Given the description of an element on the screen output the (x, y) to click on. 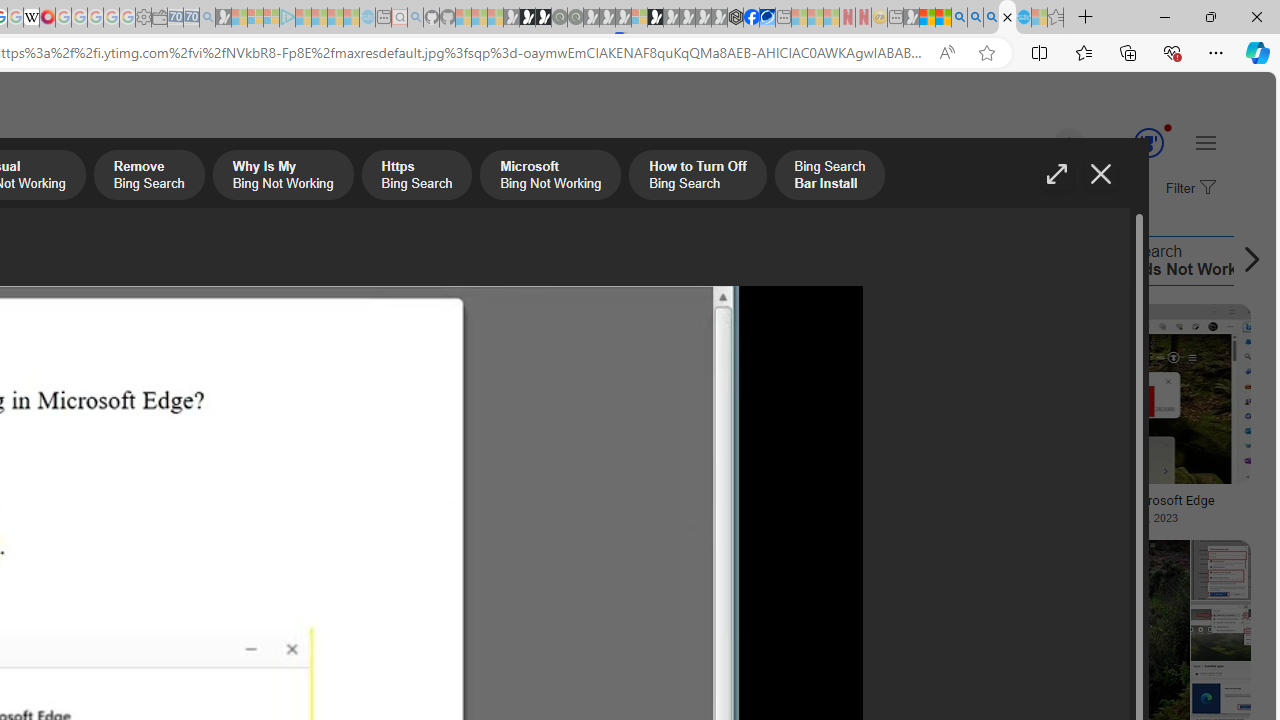
Bong Plush Toy (134, 434)
MediaWiki (47, 17)
AutomationID: rh_meter (1148, 142)
Wallet - Sleeping (159, 17)
Play Zoo Boom in your browser | Games from Microsoft Start (527, 17)
Microsoft Rewards 84 (1130, 143)
Image result for Bing Search Not Working (1094, 393)
Bing Search Bar Install (527, 260)
Bing Not Working Properly (715, 260)
